Given the description of an element on the screen output the (x, y) to click on. 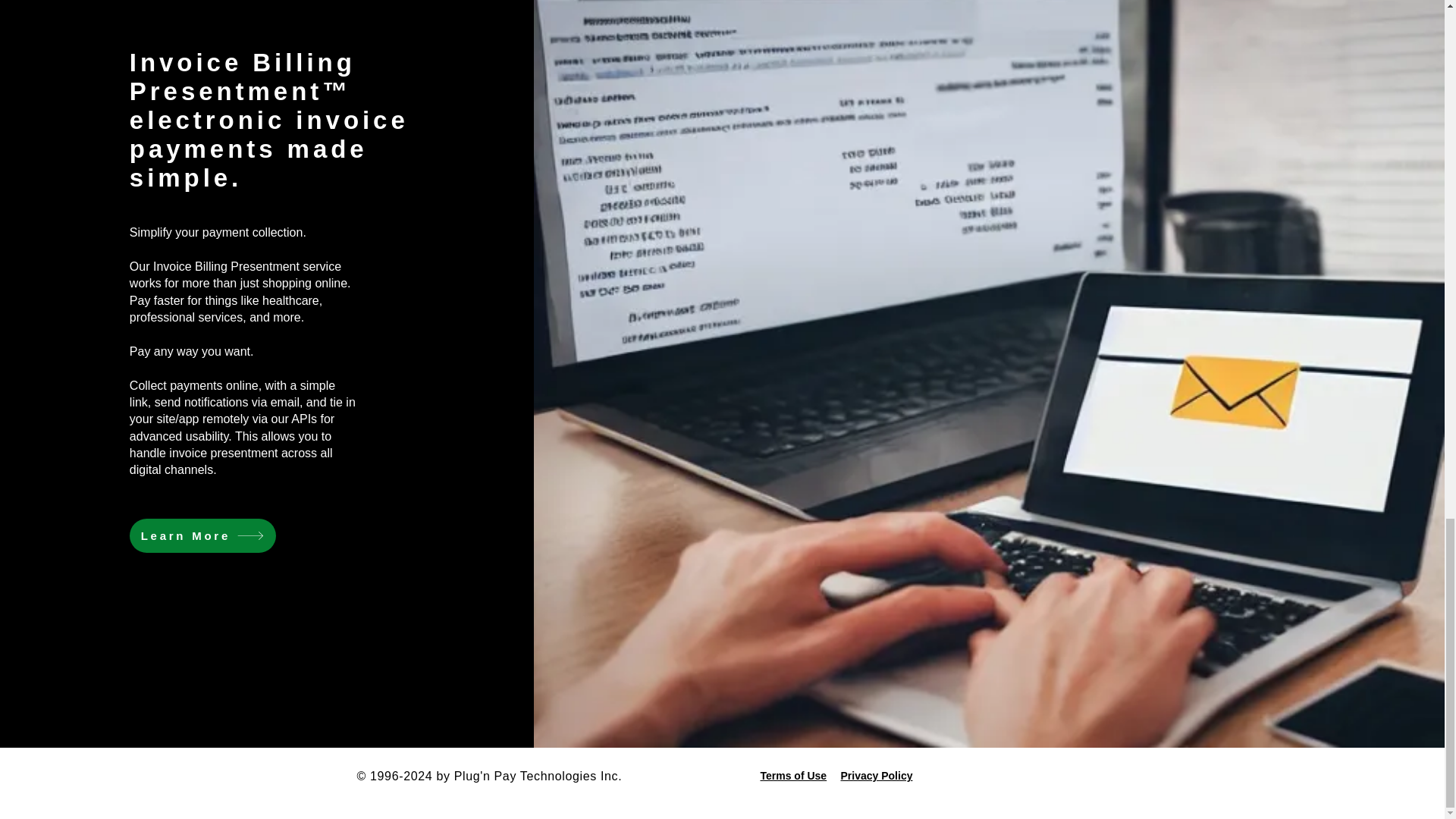
Privacy Policy (876, 775)
Terms of Use (793, 775)
Learn More (202, 535)
